Given the description of an element on the screen output the (x, y) to click on. 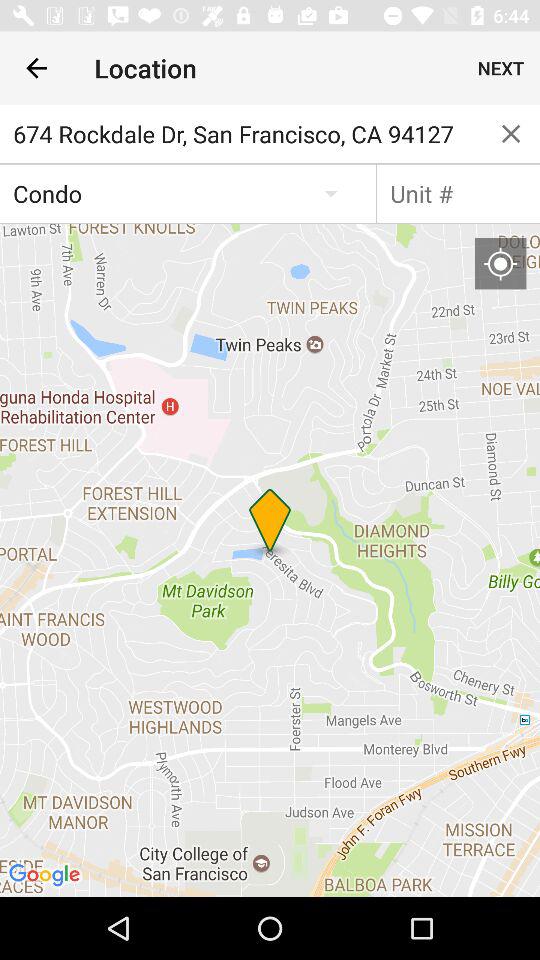
address bar (458, 193)
